Given the description of an element on the screen output the (x, y) to click on. 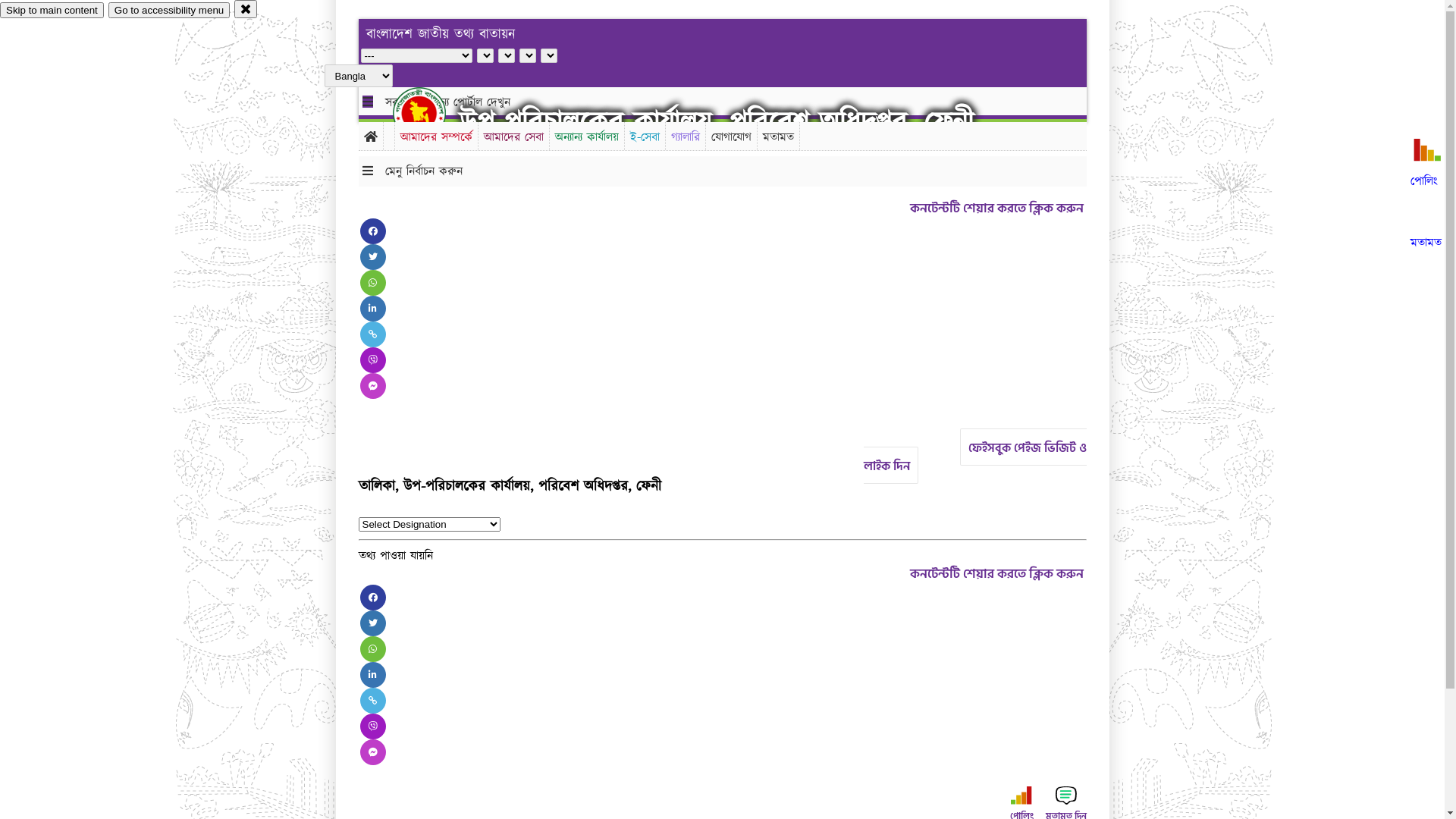

                
             Element type: hover (431, 112)
Skip to main content Element type: text (51, 10)
Go to accessibility menu Element type: text (168, 10)
close Element type: hover (245, 9)
